Given the description of an element on the screen output the (x, y) to click on. 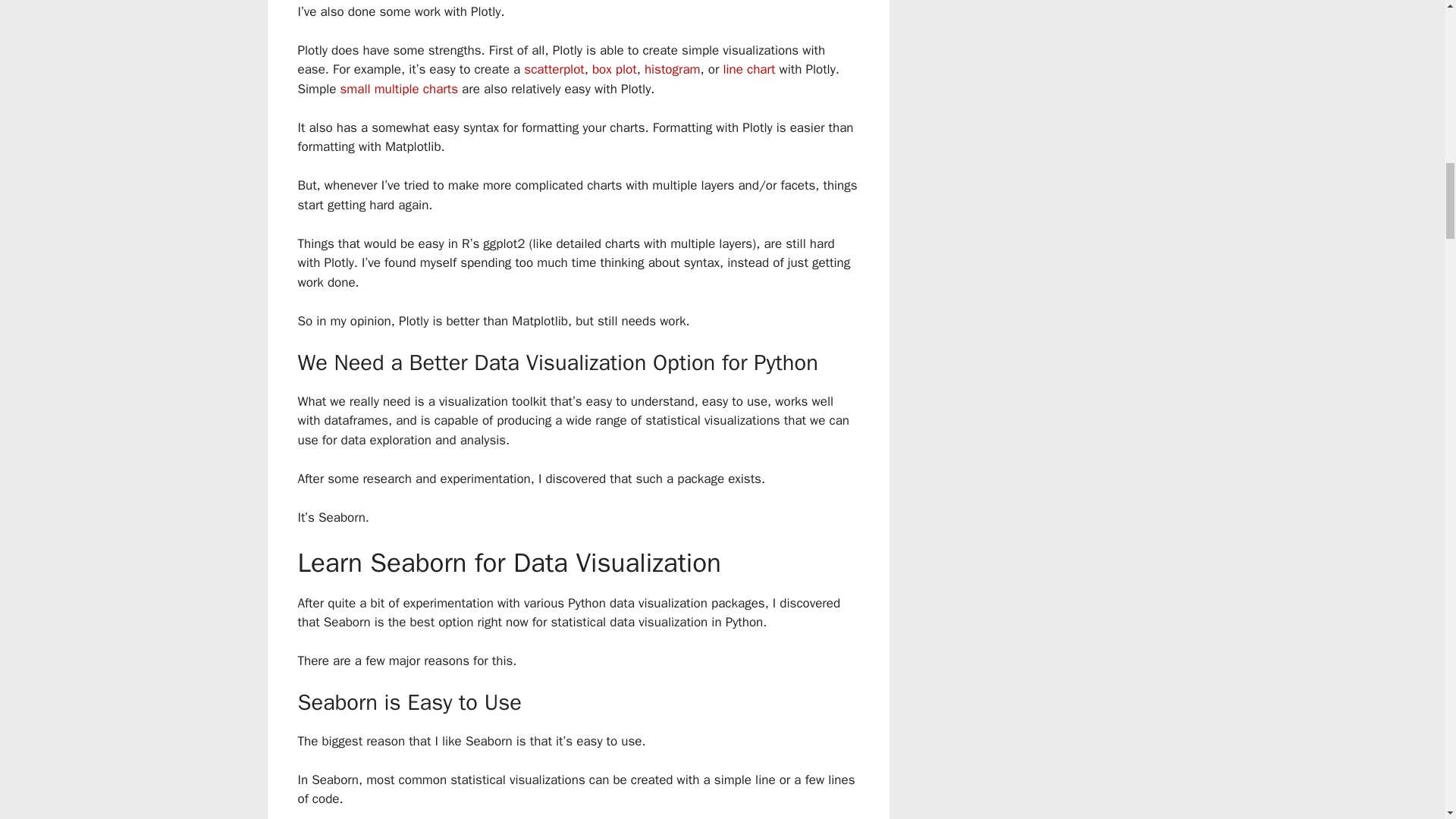
histogram (672, 68)
scatterplot (553, 68)
small multiple charts (399, 89)
box plot (614, 68)
line chart (748, 68)
